Given the description of an element on the screen output the (x, y) to click on. 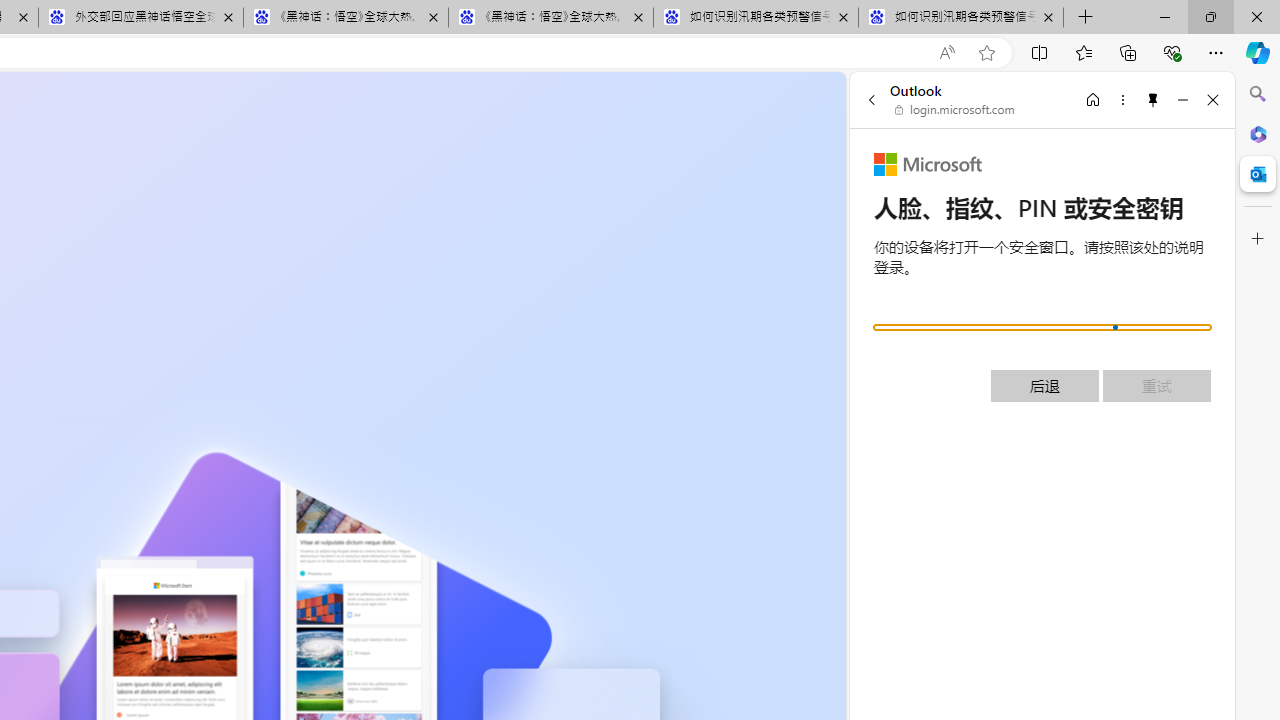
login.microsoft.com (955, 110)
